Given the description of an element on the screen output the (x, y) to click on. 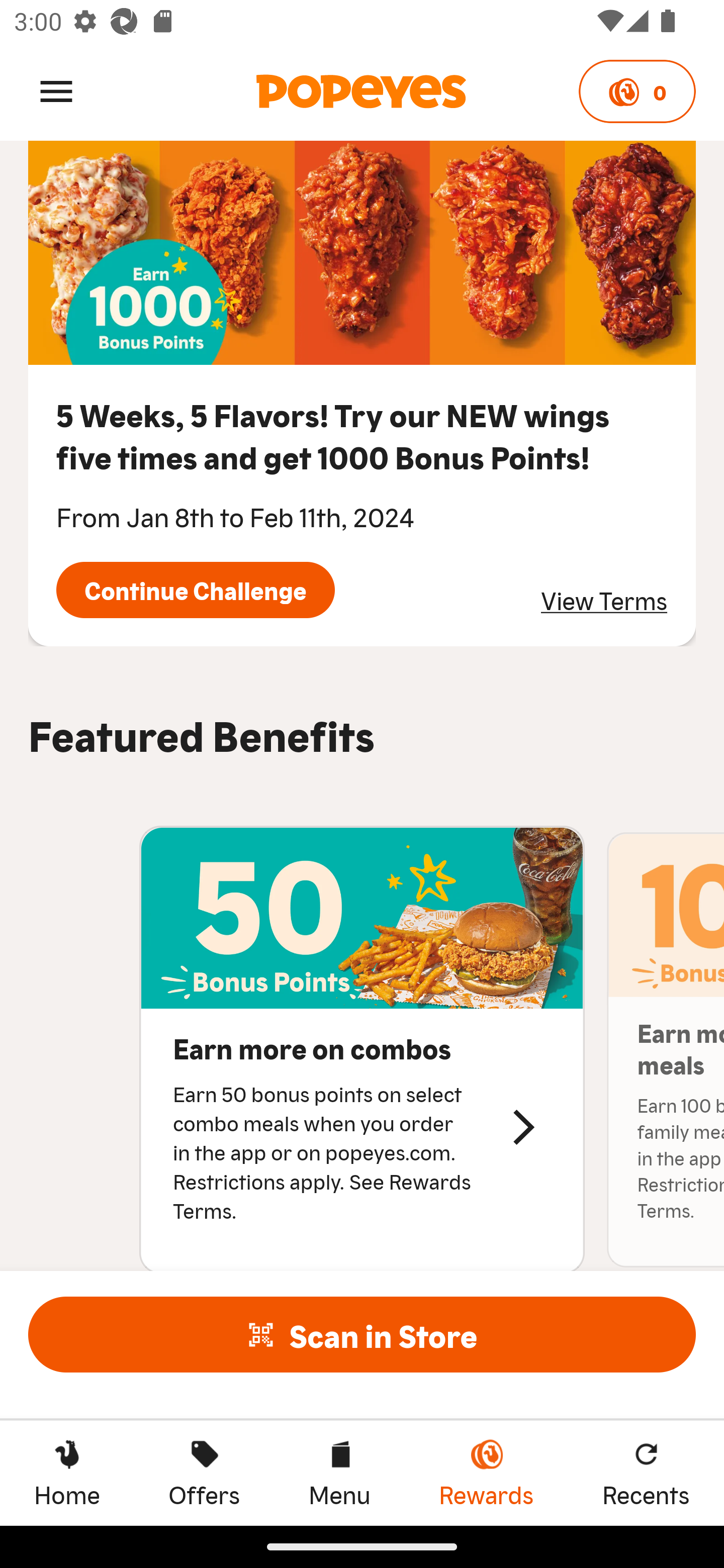
Menu  (56, 90)
0 Points 0 (636, 91)
quest image (361, 253)
Continue Challenge (195, 589)
View Terms (603, 599)
Scan in Store  Scan in Store (361, 1334)
Home Home Home (66, 1472)
Offers Offers Offers (203, 1472)
Menu Menu Menu (339, 1472)
Recents Recents Recents (646, 1472)
